Given the description of an element on the screen output the (x, y) to click on. 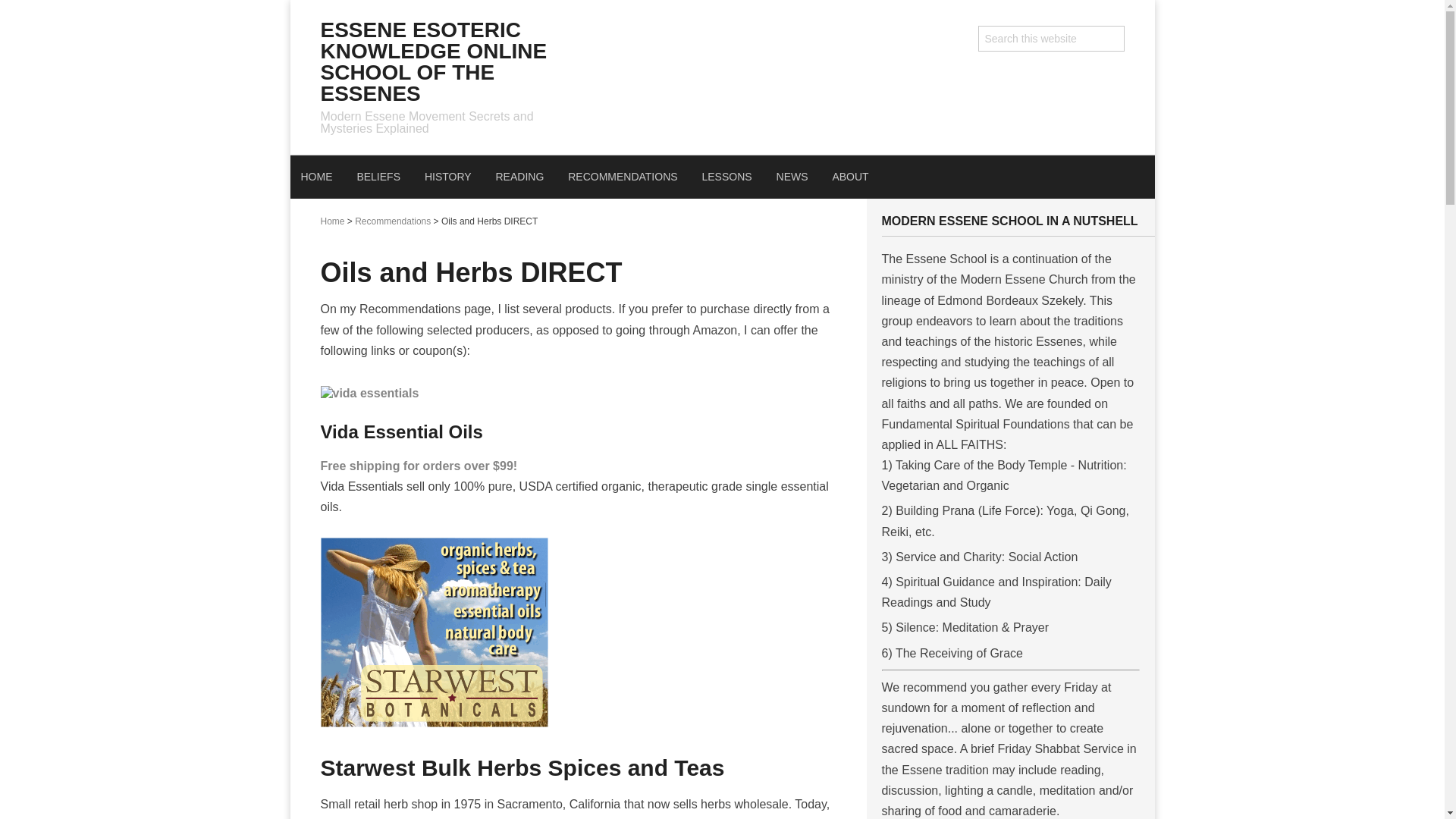
BELIEFS (378, 177)
RECOMMENDATIONS (622, 177)
HISTORY (447, 177)
ESSENE ESOTERIC KNOWLEDGE ONLINE SCHOOL OF THE ESSENES (433, 61)
HOME (315, 177)
READING (519, 177)
